Given the description of an element on the screen output the (x, y) to click on. 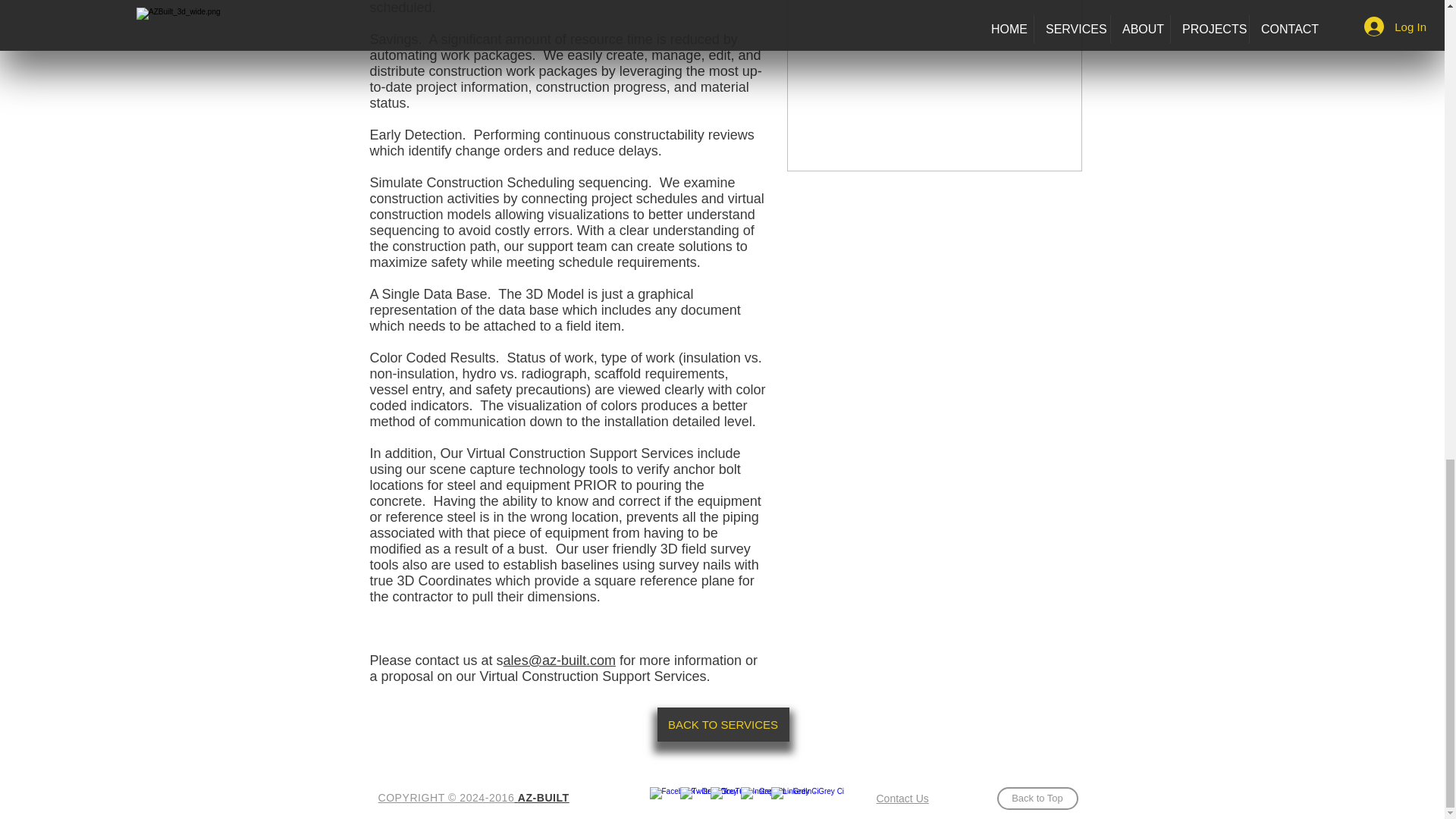
Contact Us (902, 798)
BACK TO SERVICES (722, 724)
Back to Top (1036, 798)
